Given the description of an element on the screen output the (x, y) to click on. 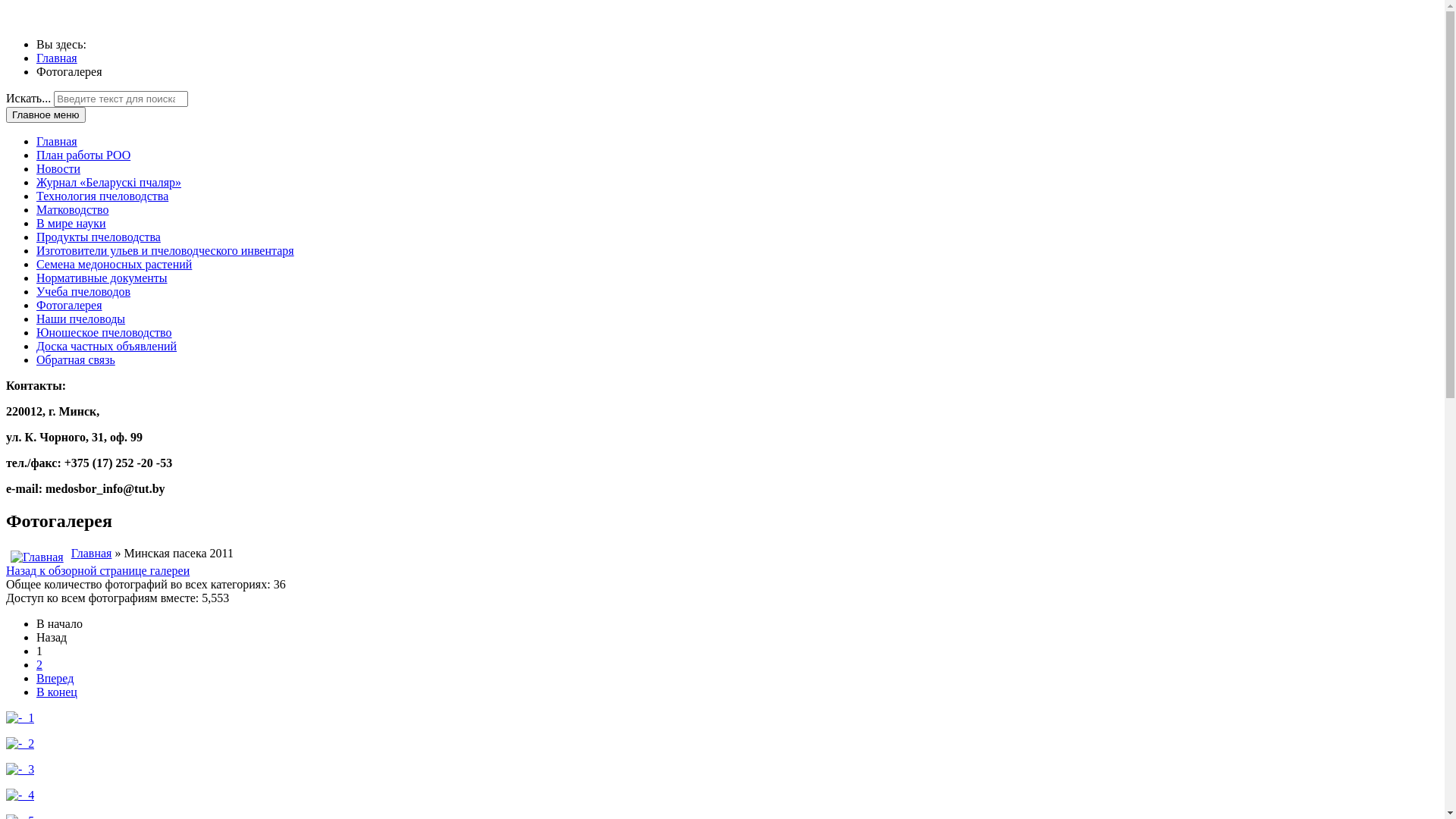
-_3 Element type: hover (20, 768)
-_1 Element type: hover (20, 717)
2 Element type: text (39, 664)
-_4 Element type: hover (20, 794)
-_2 Element type: hover (20, 743)
